Given the description of an element on the screen output the (x, y) to click on. 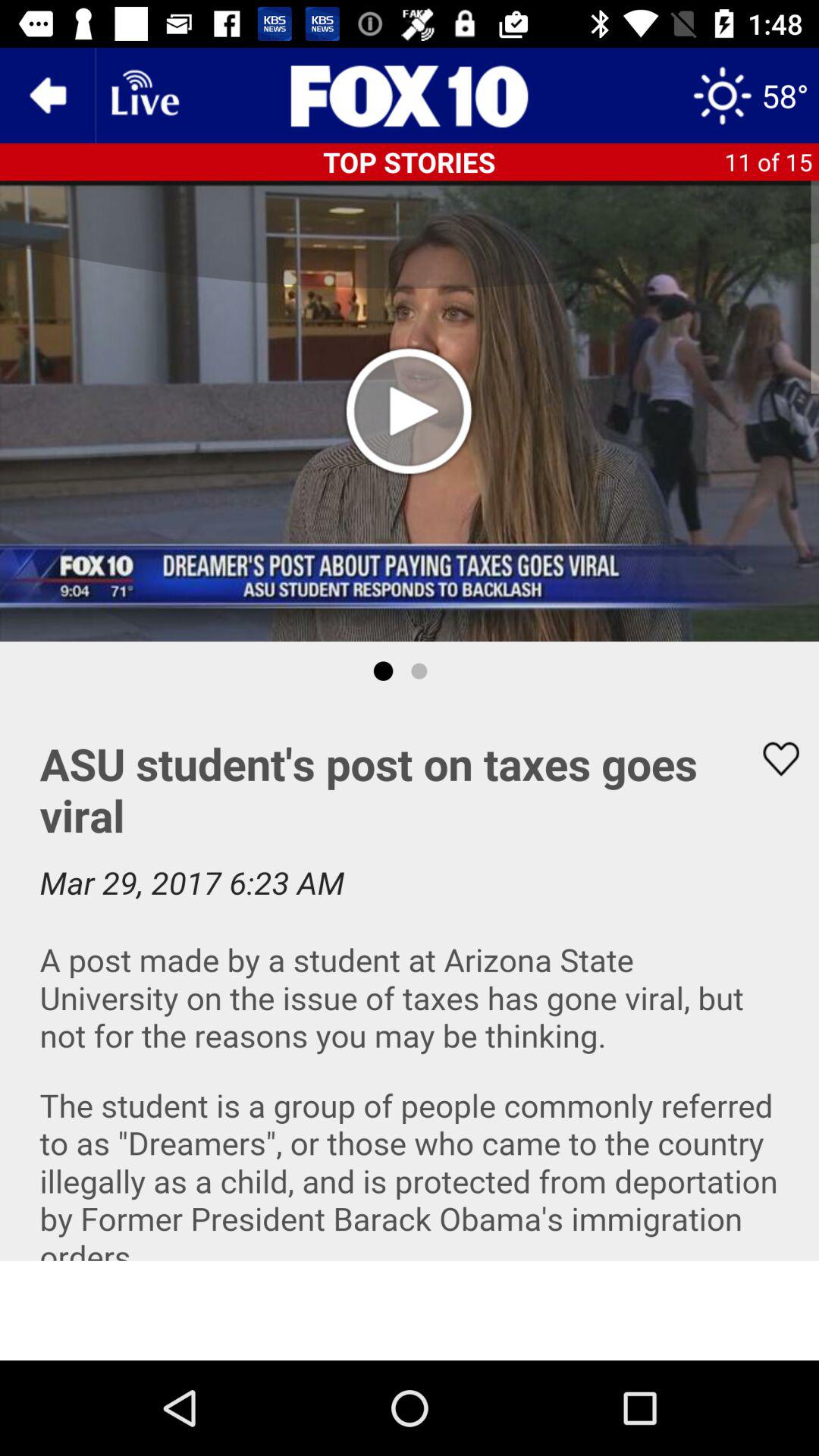
click the live option (143, 95)
